Given the description of an element on the screen output the (x, y) to click on. 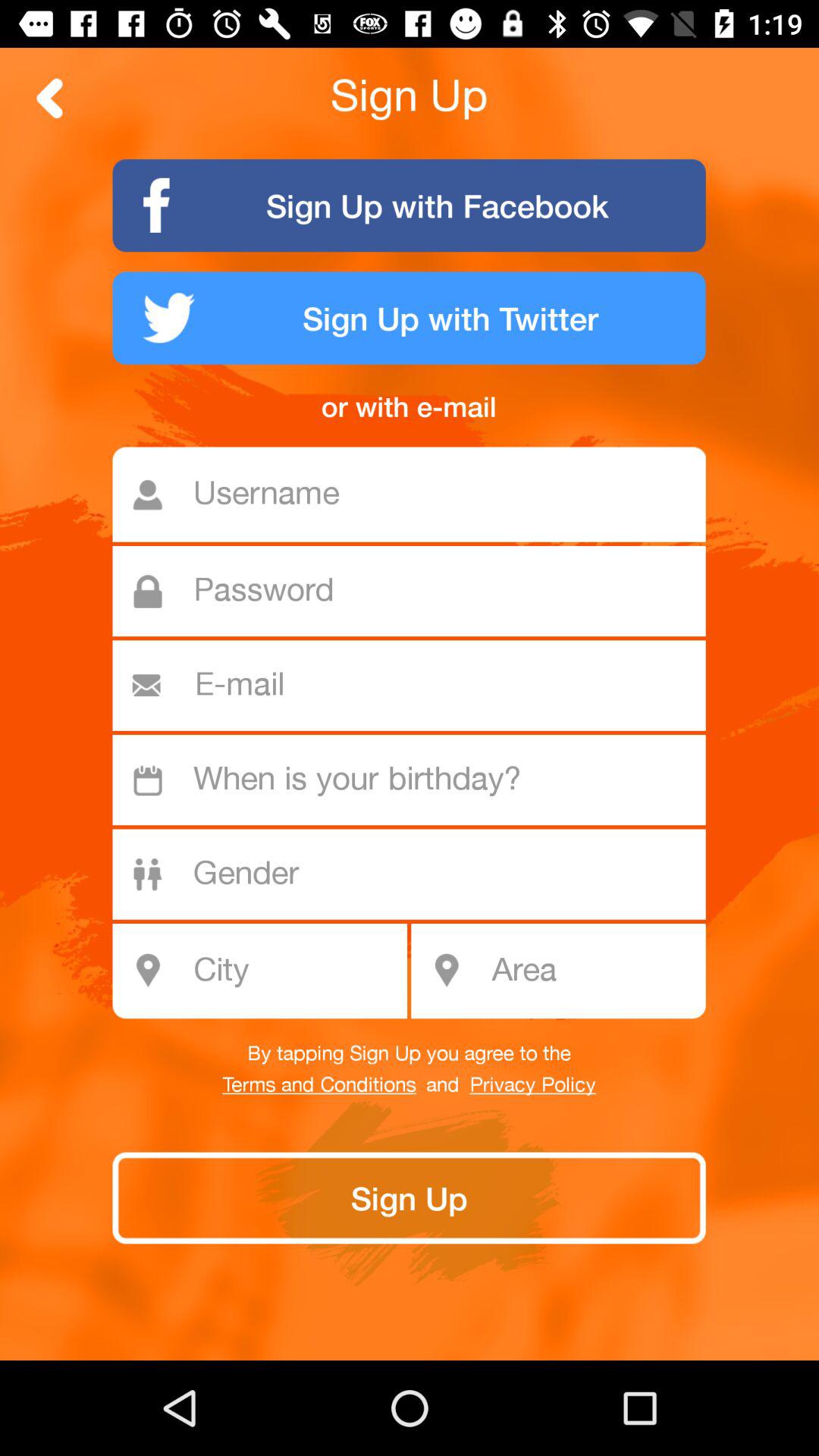
write birthday (417, 779)
